Given the description of an element on the screen output the (x, y) to click on. 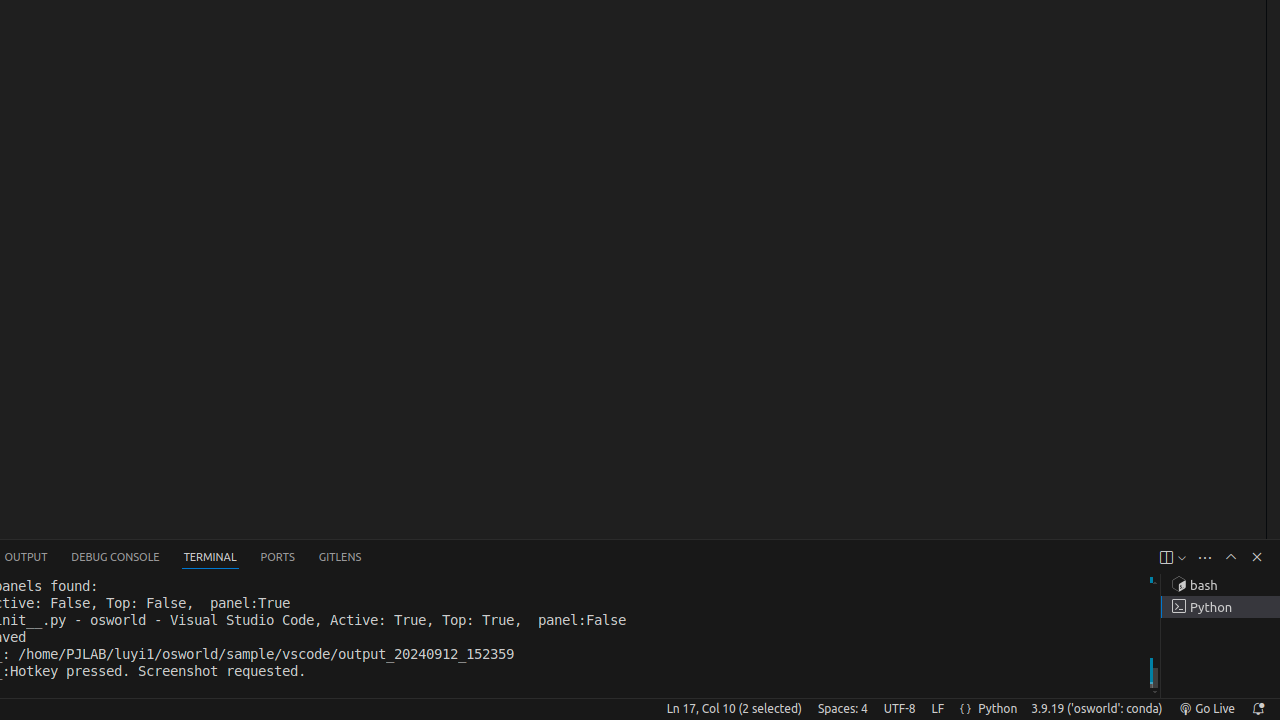
Ports Element type: page-tab (277, 557)
Maximize Panel Size Element type: check-box (1231, 557)
Split Terminal (Ctrl+Shift+5) Element type: push-button (1166, 557)
GitLens Element type: page-tab (340, 557)
Hide Panel Element type: push-button (1257, 557)
